Given the description of an element on the screen output the (x, y) to click on. 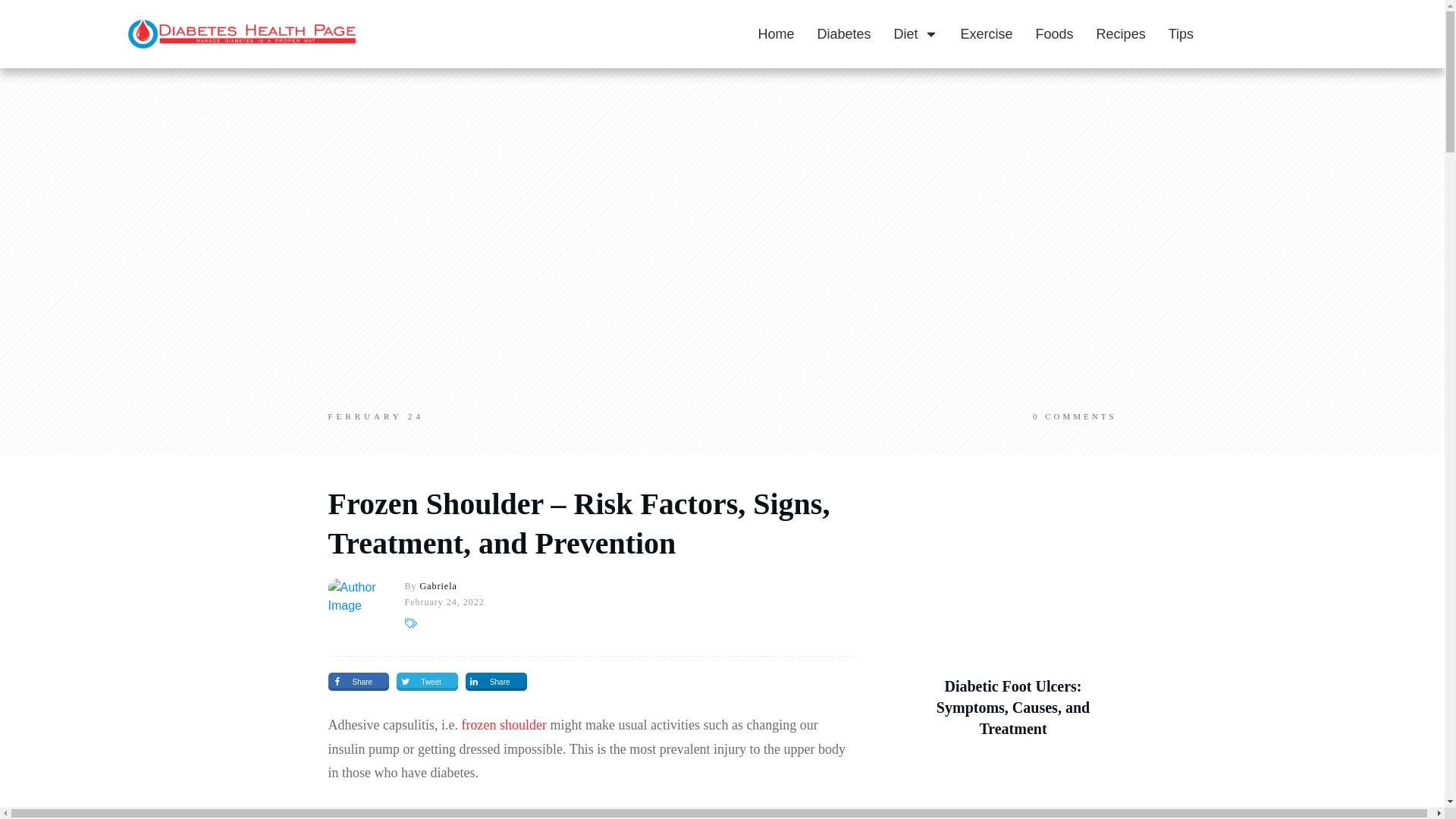
Diabetic Foot Ulcers: Symptoms, Causes, and Treatment (1012, 707)
Home (775, 33)
Diabetic Foot Ulcers: Symptoms, Causes, and Treatment (1012, 707)
undefined (354, 605)
Share (496, 681)
frozen shoulder (503, 724)
Tips (1181, 33)
Share (357, 681)
Recipes (1120, 33)
Exercise (986, 33)
